Given the description of an element on the screen output the (x, y) to click on. 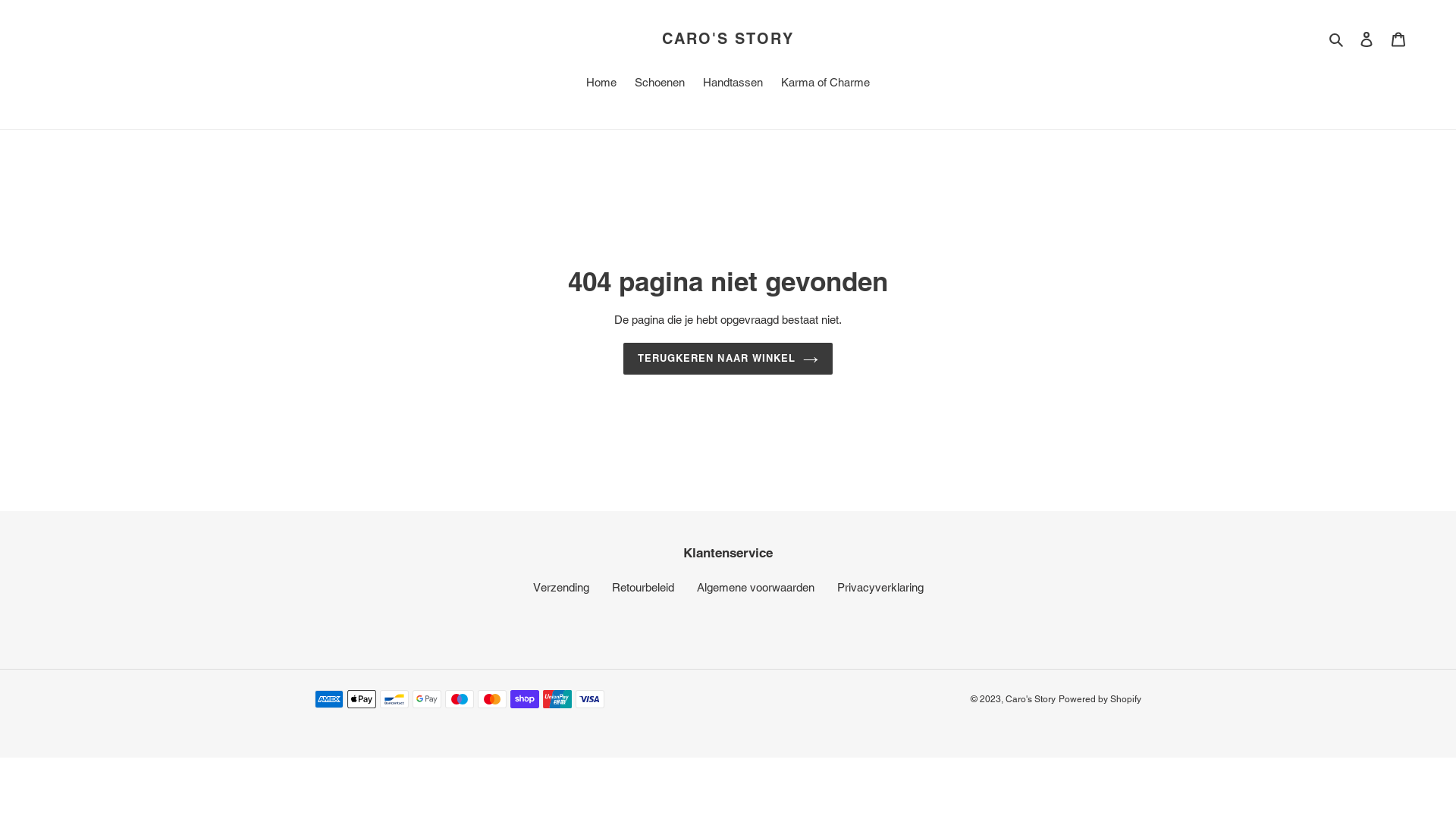
TERUGKEREN NAAR WINKEL Element type: text (727, 358)
Verzending Element type: text (560, 586)
Winkelwagen Element type: text (1398, 38)
Zoeken Element type: text (1337, 38)
Inloggen Element type: text (1366, 38)
Handtassen Element type: text (732, 84)
Algemene voorwaarden Element type: text (754, 586)
Caro's Story Element type: text (1030, 698)
Home Element type: text (601, 84)
Privacyverklaring Element type: text (880, 586)
CARO'S STORY Element type: text (727, 38)
Retourbeleid Element type: text (642, 586)
Karma of Charme Element type: text (825, 84)
Schoenen Element type: text (659, 84)
